Given the description of an element on the screen output the (x, y) to click on. 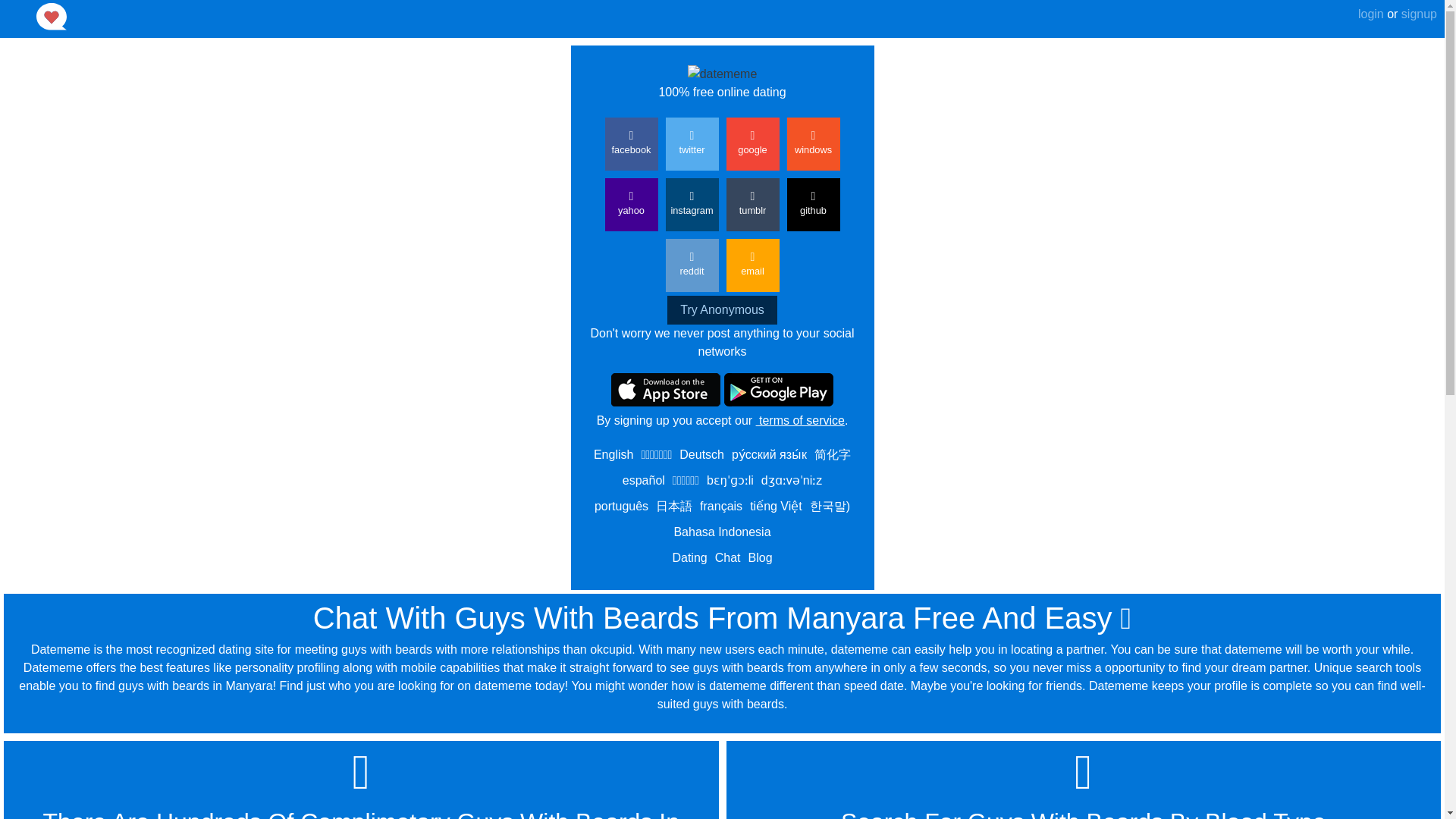
yahoo (631, 204)
google (752, 143)
Deutsch (701, 454)
Dating (688, 557)
home (103, 16)
email (752, 265)
 terms of service (799, 420)
Try Anonymous (721, 309)
English (613, 454)
back (17, 6)
tumblr (752, 204)
login (1371, 14)
windows (813, 143)
Bahasa Indonesia (721, 531)
facebook (631, 143)
